Given the description of an element on the screen output the (x, y) to click on. 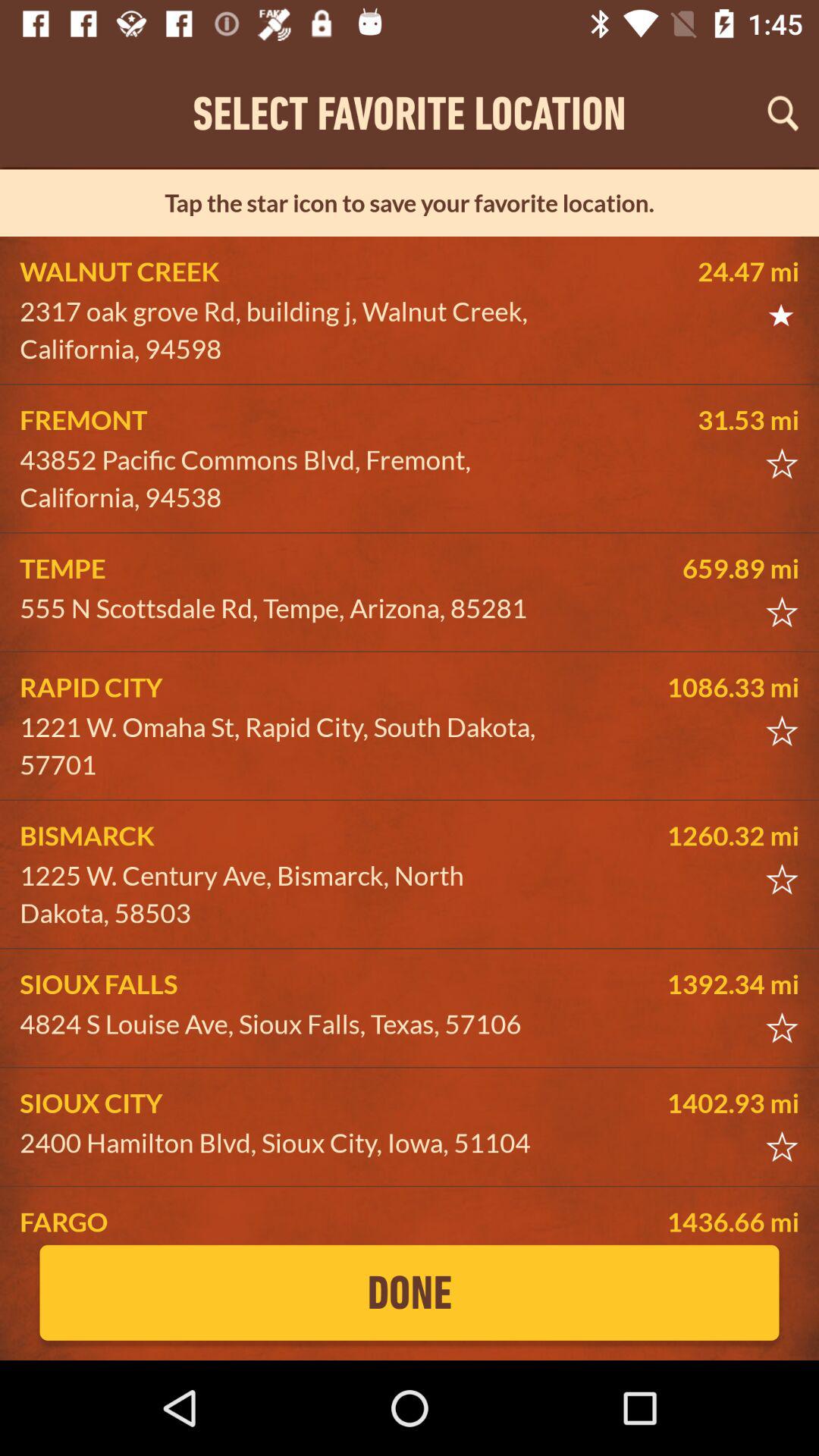
open the icon to the right of the bismarck (685, 835)
